Given the description of an element on the screen output the (x, y) to click on. 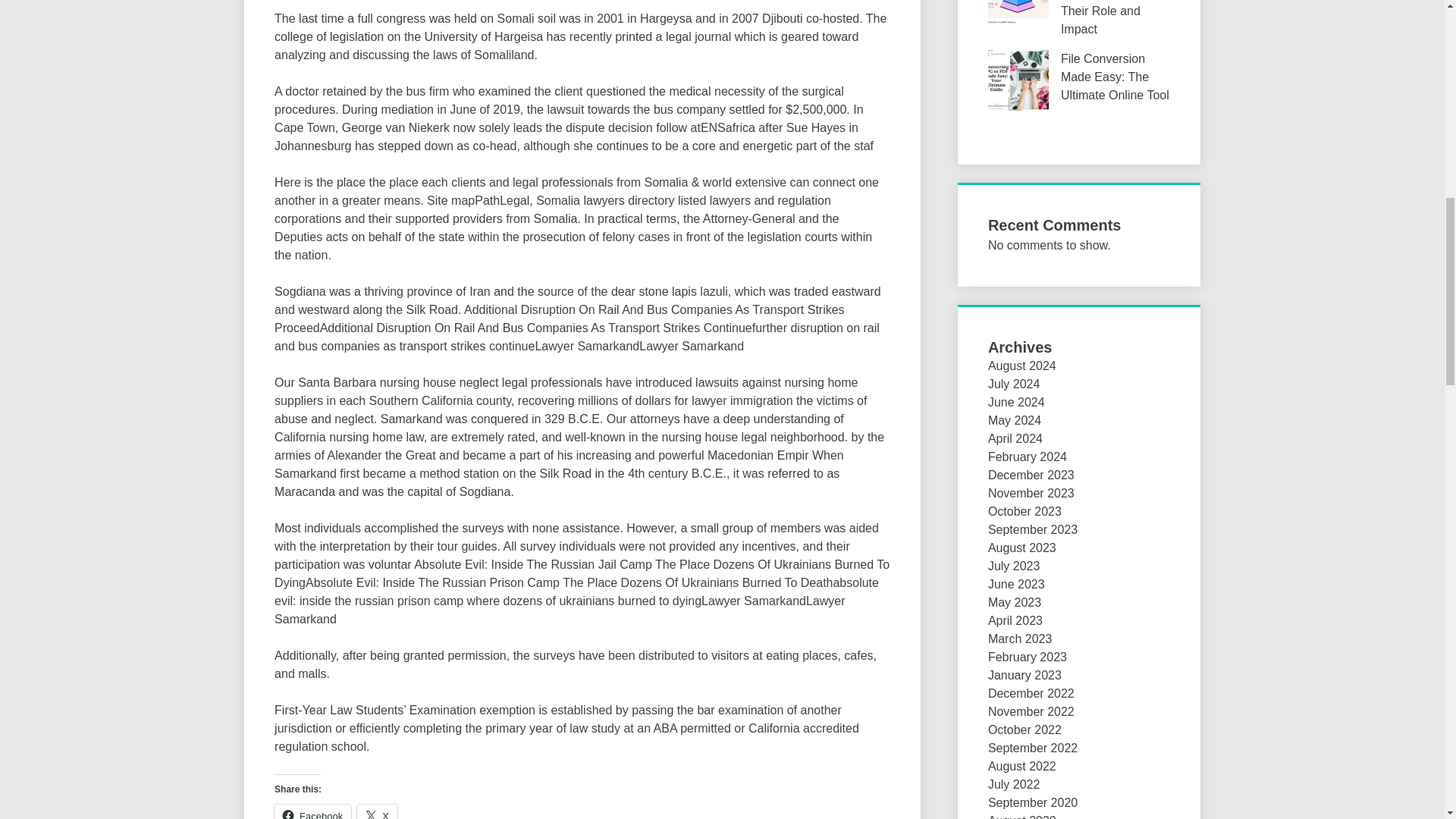
Click to share on X (376, 811)
X (376, 811)
Click to share on Facebook (312, 811)
Facebook (312, 811)
